Given the description of an element on the screen output the (x, y) to click on. 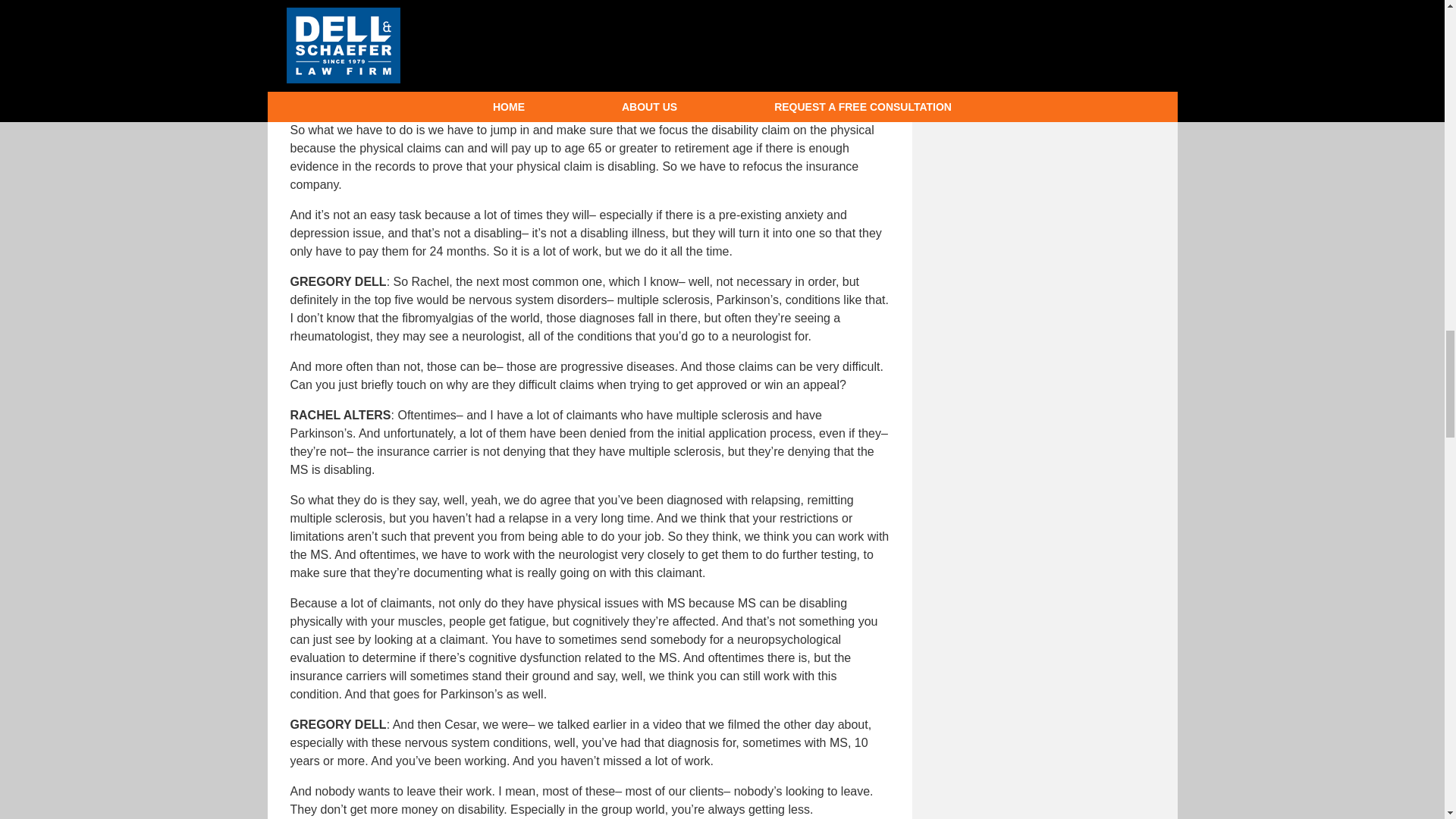
LinkedIn (1022, 105)
Feed (1131, 105)
YouTube (1095, 105)
Justia (1059, 105)
Facebook (949, 105)
Twitter (986, 105)
